Given the description of an element on the screen output the (x, y) to click on. 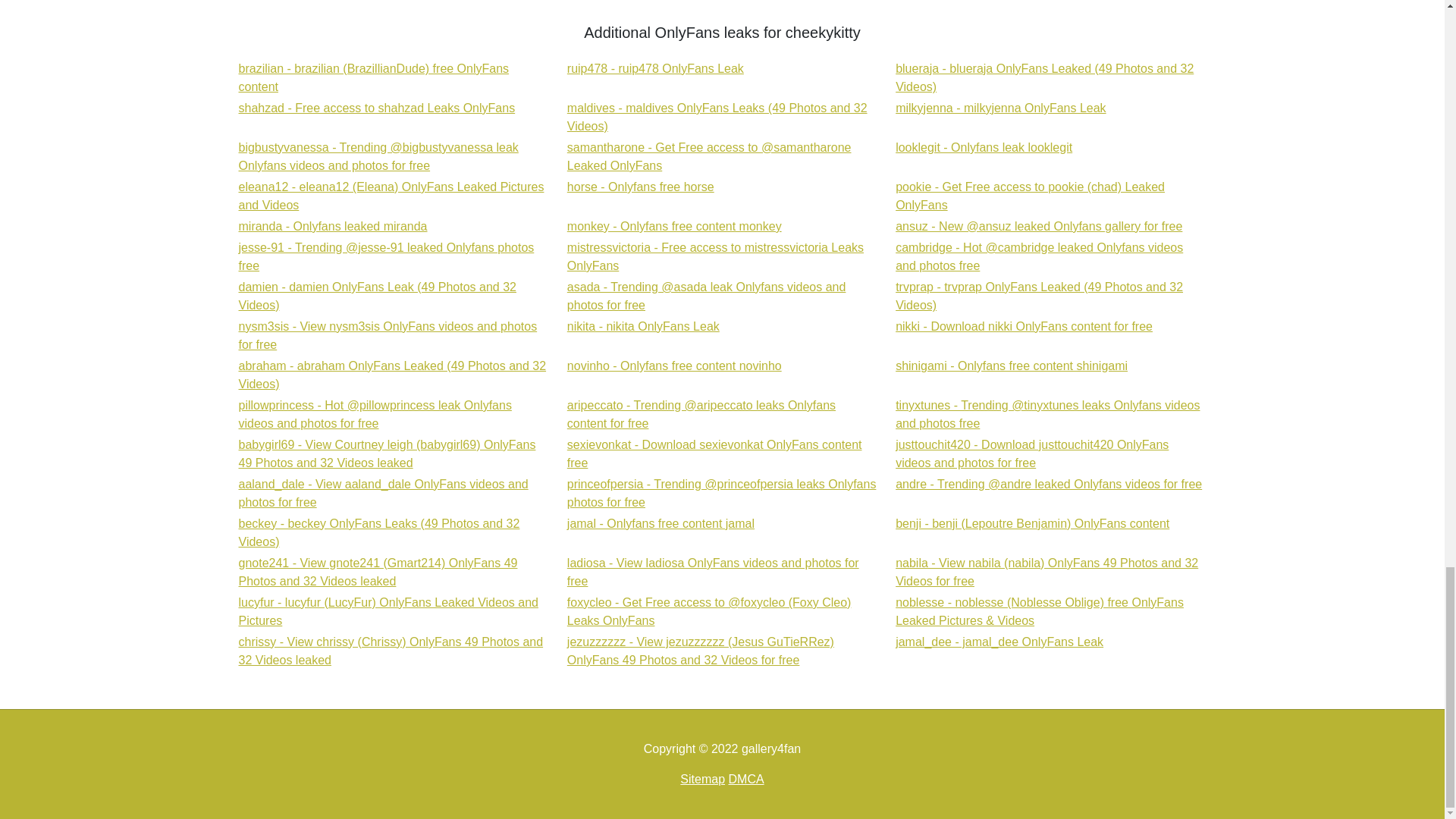
ruip478 - ruip478 OnlyFans Leak (983, 146)
shahzad - Free access to shahzad Leaks OnlyFans (674, 226)
milkyjenna - milkyjenna OnlyFans Leak (332, 226)
